Given the description of an element on the screen output the (x, y) to click on. 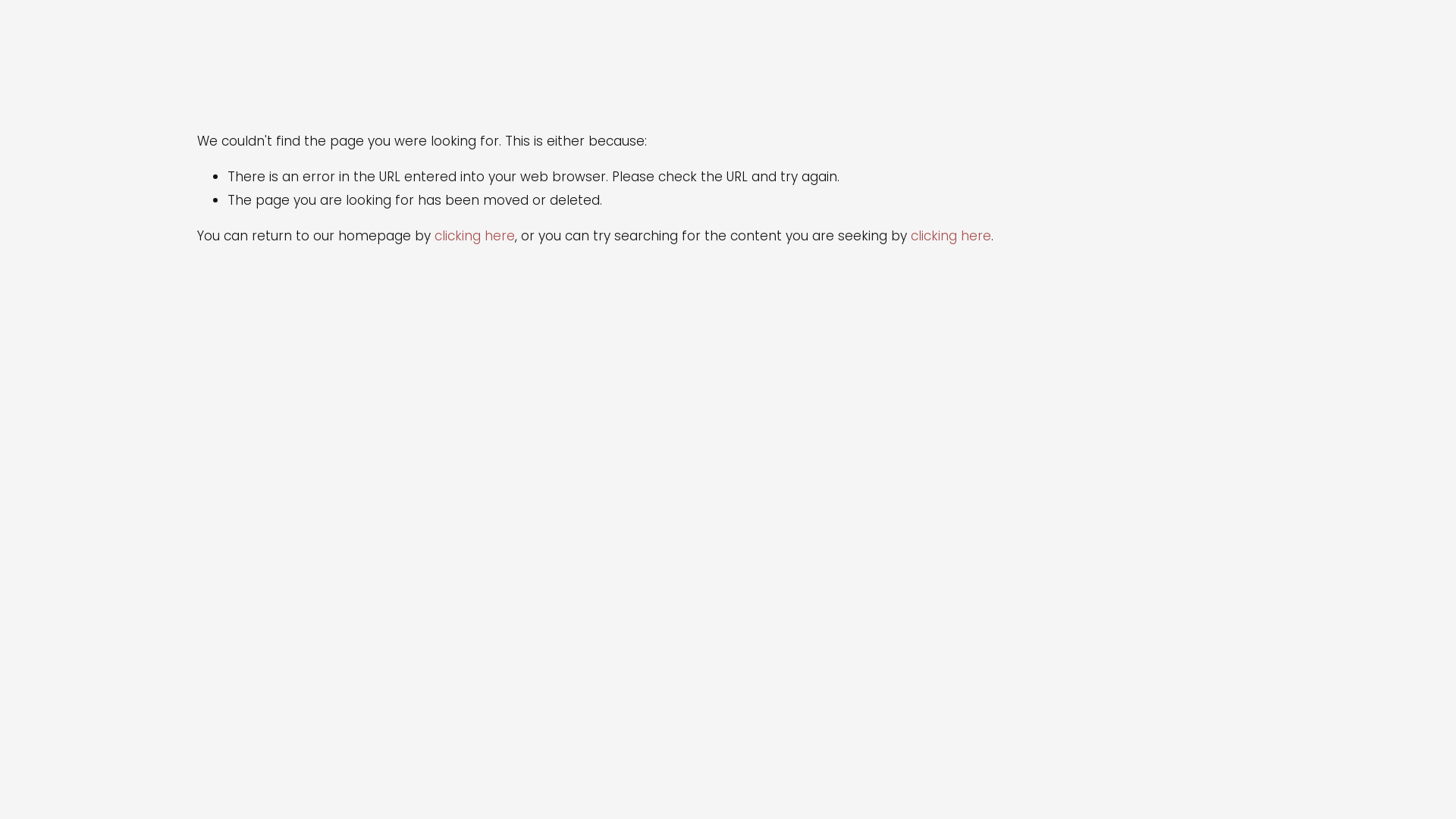
clicking here Element type: text (474, 235)
clicking here Element type: text (950, 235)
